Given the description of an element on the screen output the (x, y) to click on. 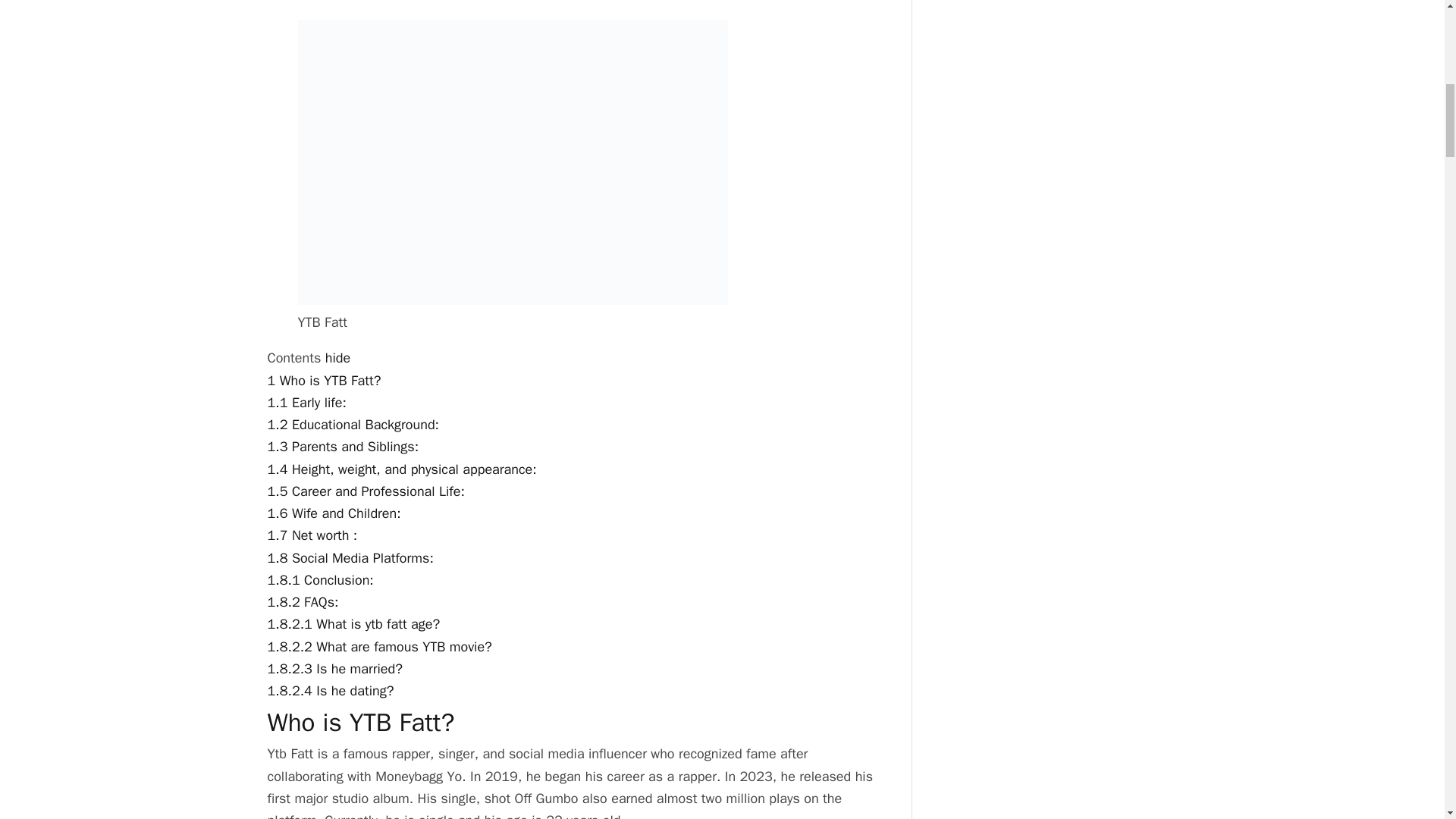
1.7 Net worth : (311, 535)
1.6 Wife and Children: (333, 513)
1.4 Height, weight, and physical appearance: (400, 469)
1.1 Early life: (306, 402)
hide (337, 357)
1.8.2.2 What are famous YTB movie? (379, 646)
1.8.2.3 Is he married? (333, 668)
1.8.2 FAQs: (301, 601)
1 Who is YTB Fatt? (323, 380)
1.8.2.1 What is ytb fatt age? (352, 623)
